Given the description of an element on the screen output the (x, y) to click on. 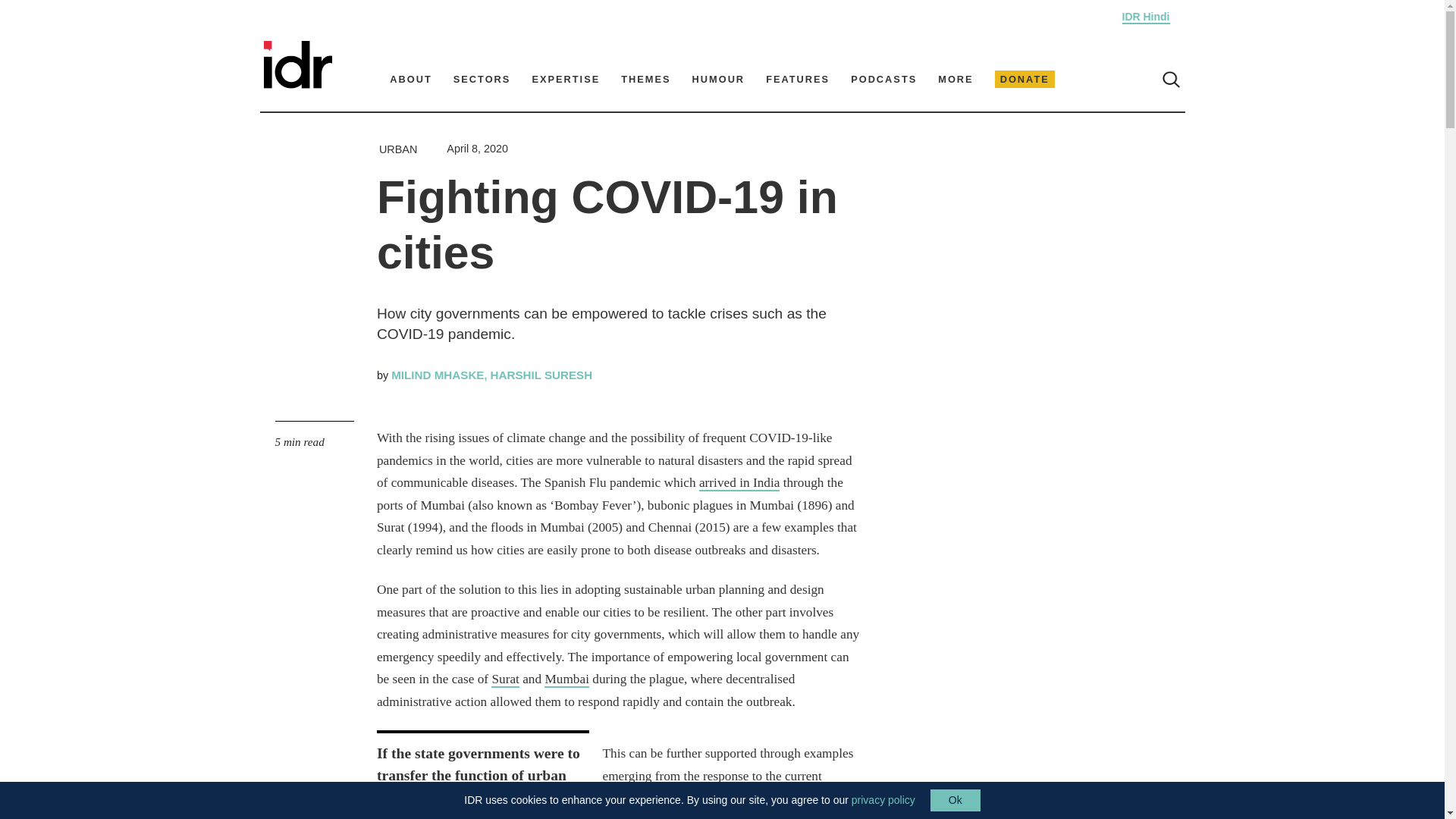
ABOUT (411, 79)
EXPERTISE (565, 79)
THEMES (645, 79)
IDR Hindi (1146, 17)
SECTORS (481, 79)
